Given the description of an element on the screen output the (x, y) to click on. 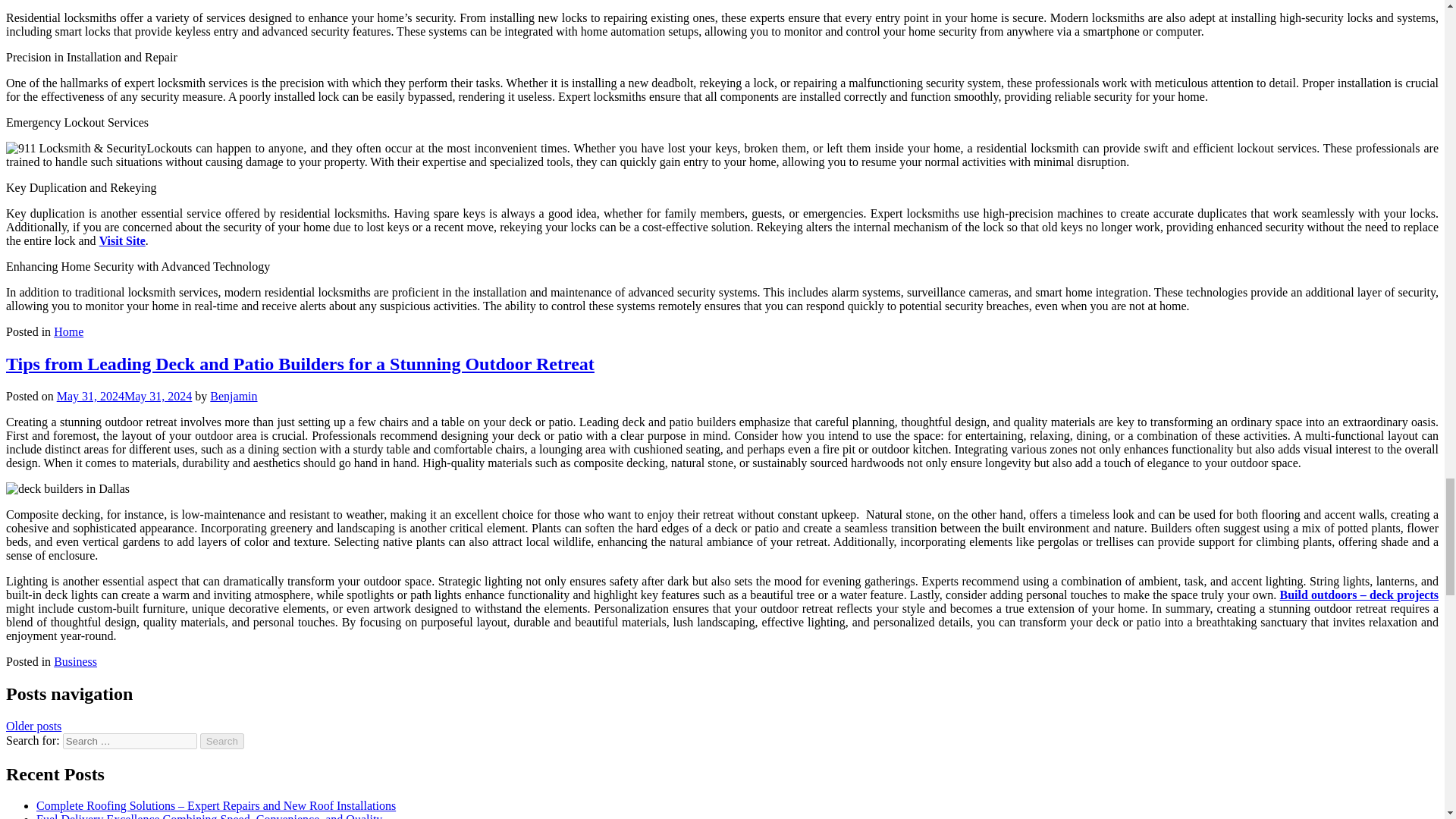
Search (222, 741)
Search (222, 741)
